Given the description of an element on the screen output the (x, y) to click on. 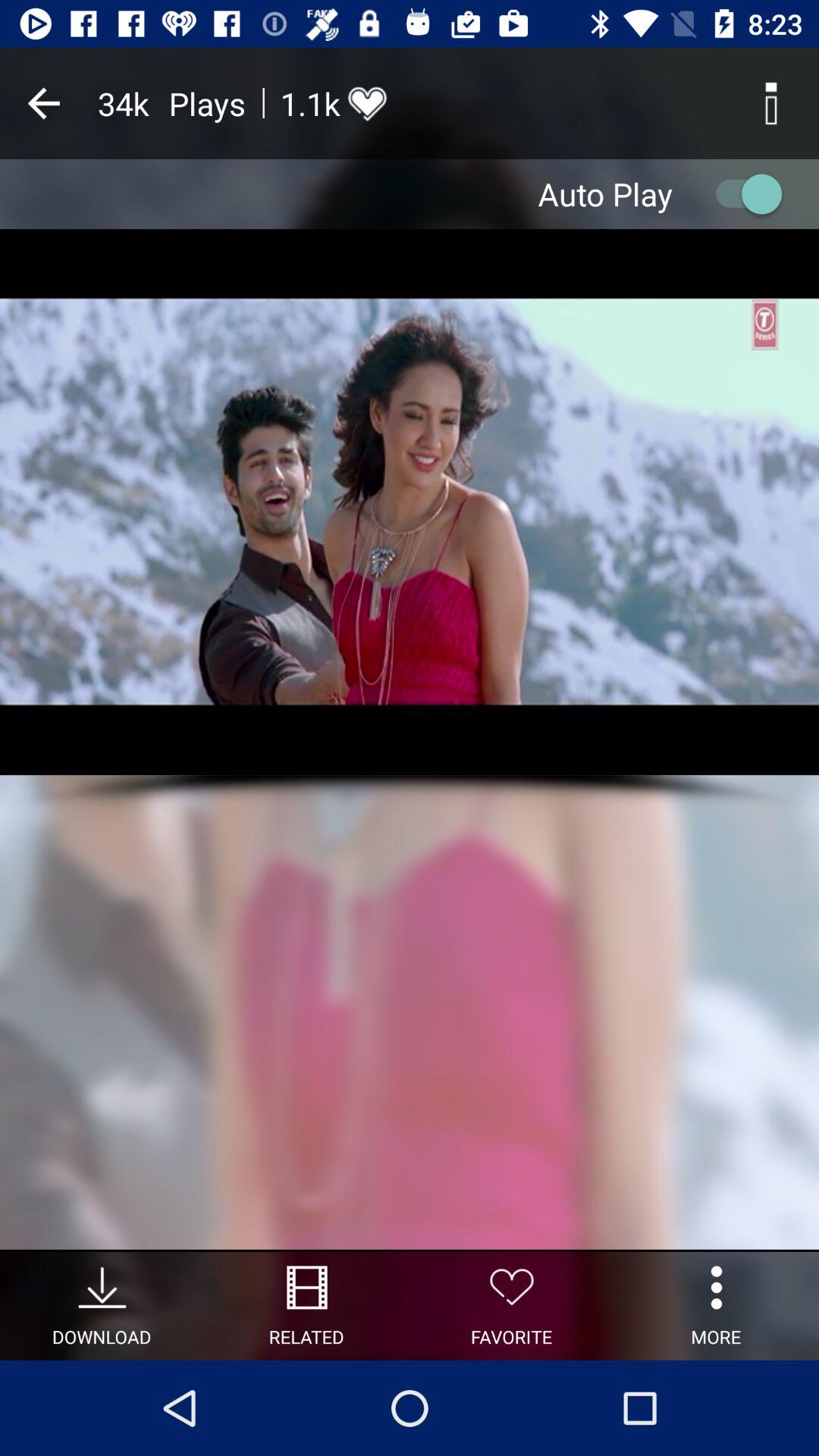
go back (43, 103)
